Given the description of an element on the screen output the (x, y) to click on. 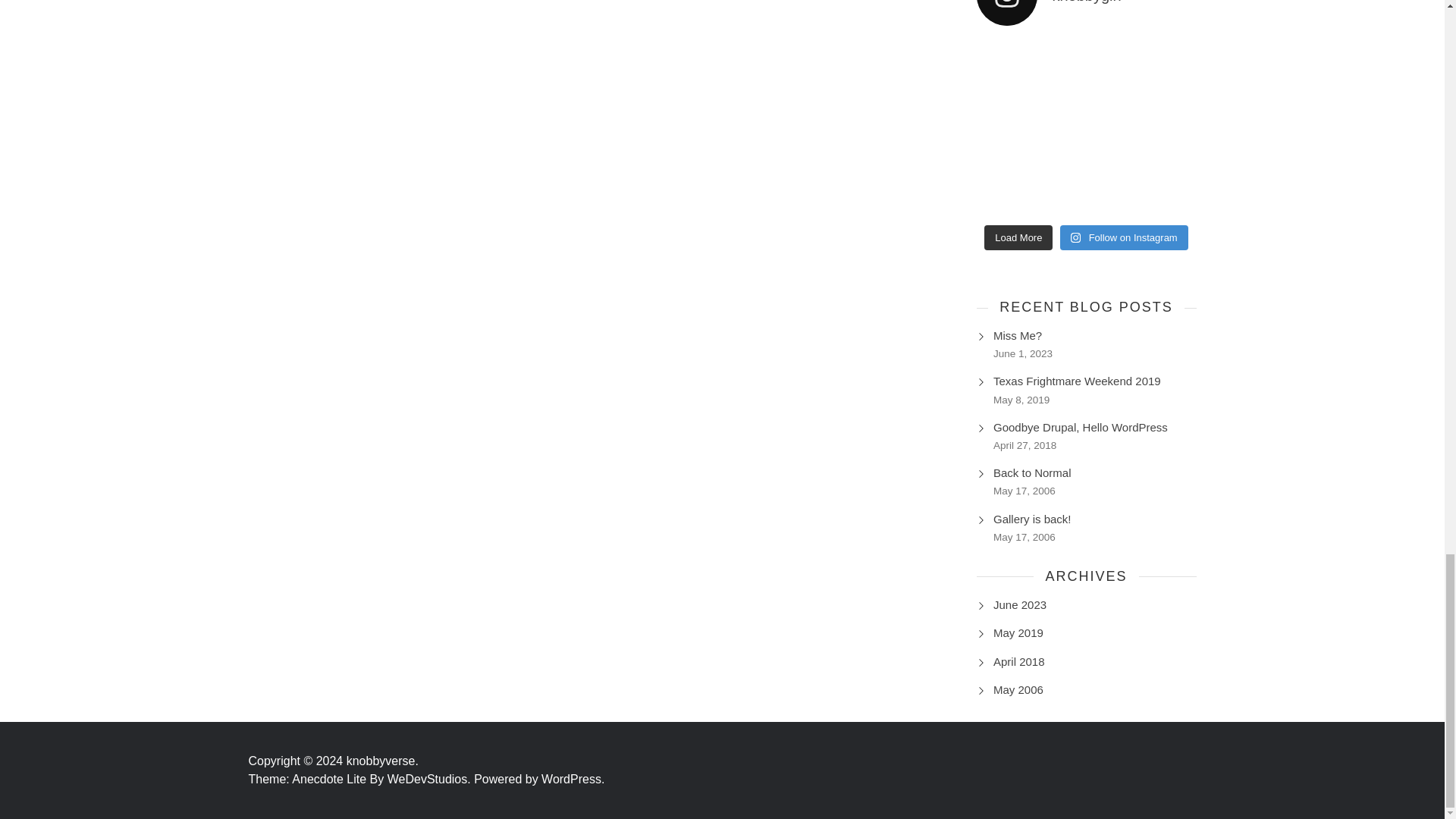
knobbyverse (382, 760)
WeDevStudios (430, 779)
WordPress (572, 779)
